Given the description of an element on the screen output the (x, y) to click on. 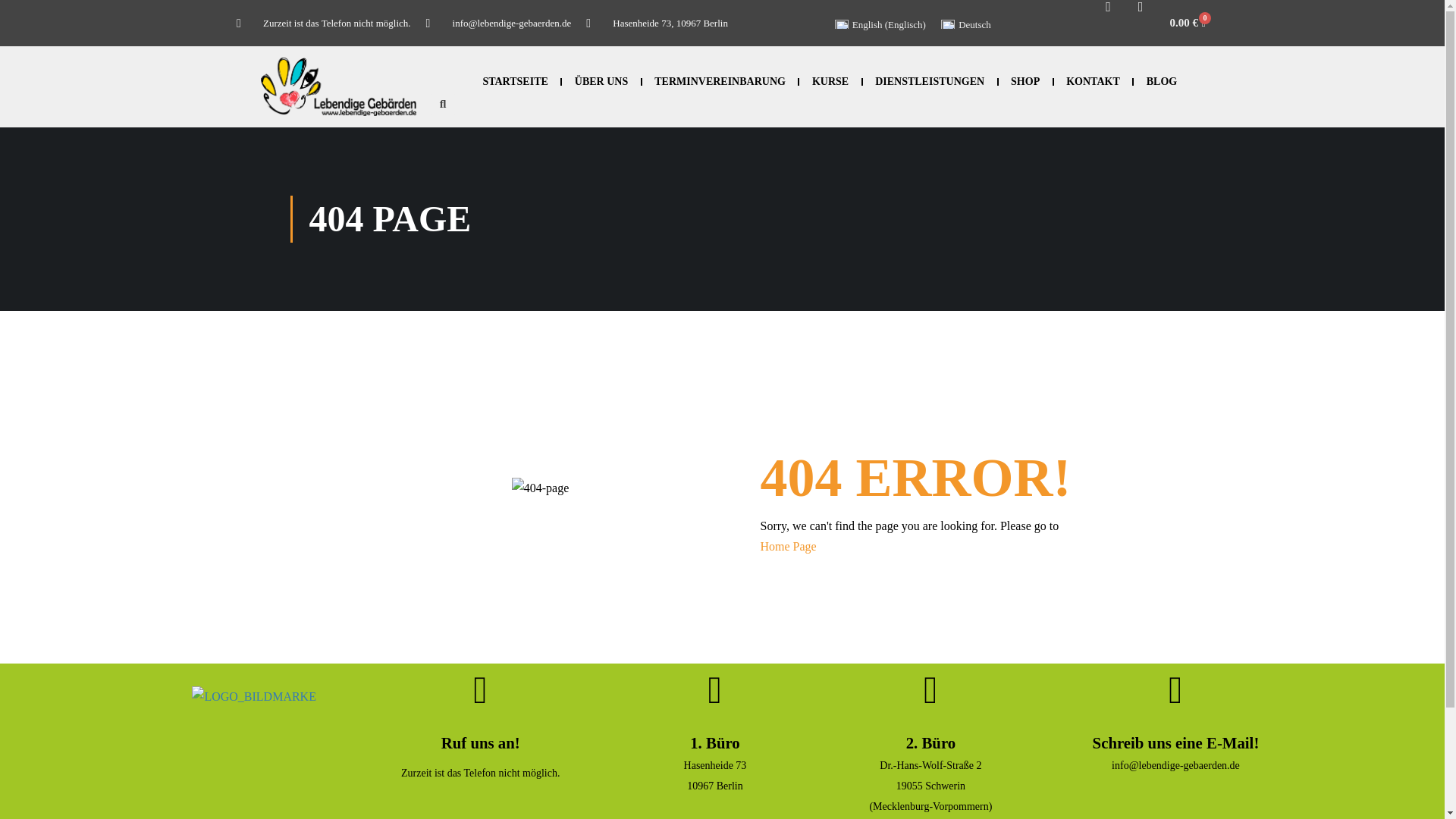
DIENSTLEISTUNGEN (929, 81)
KURSE (830, 81)
Deutsch (965, 24)
TERMINVEREINBARUNG (720, 81)
STARTSEITE (515, 81)
BLOG (1160, 81)
Schreib uns eine E-Mail! (1176, 742)
SHOP (1025, 81)
Home Page (787, 545)
KONTAKT (1092, 81)
